Given the description of an element on the screen output the (x, y) to click on. 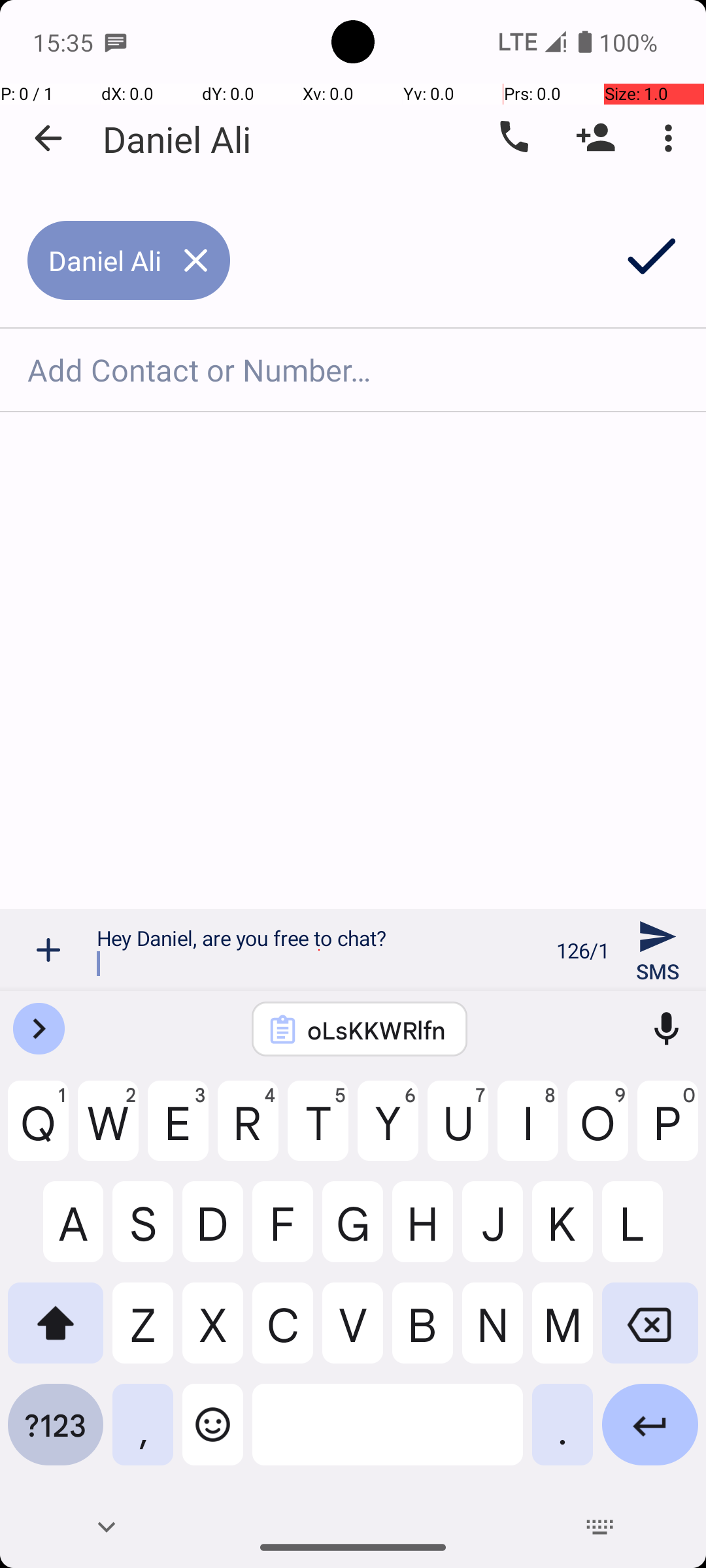
Hey Daniel, are you free to chat?
 Element type: android.widget.EditText (318, 949)
126/1 Element type: android.widget.TextView (582, 950)
SMS Messenger notification: Isla da Silva Element type: android.widget.ImageView (115, 41)
